Given the description of an element on the screen output the (x, y) to click on. 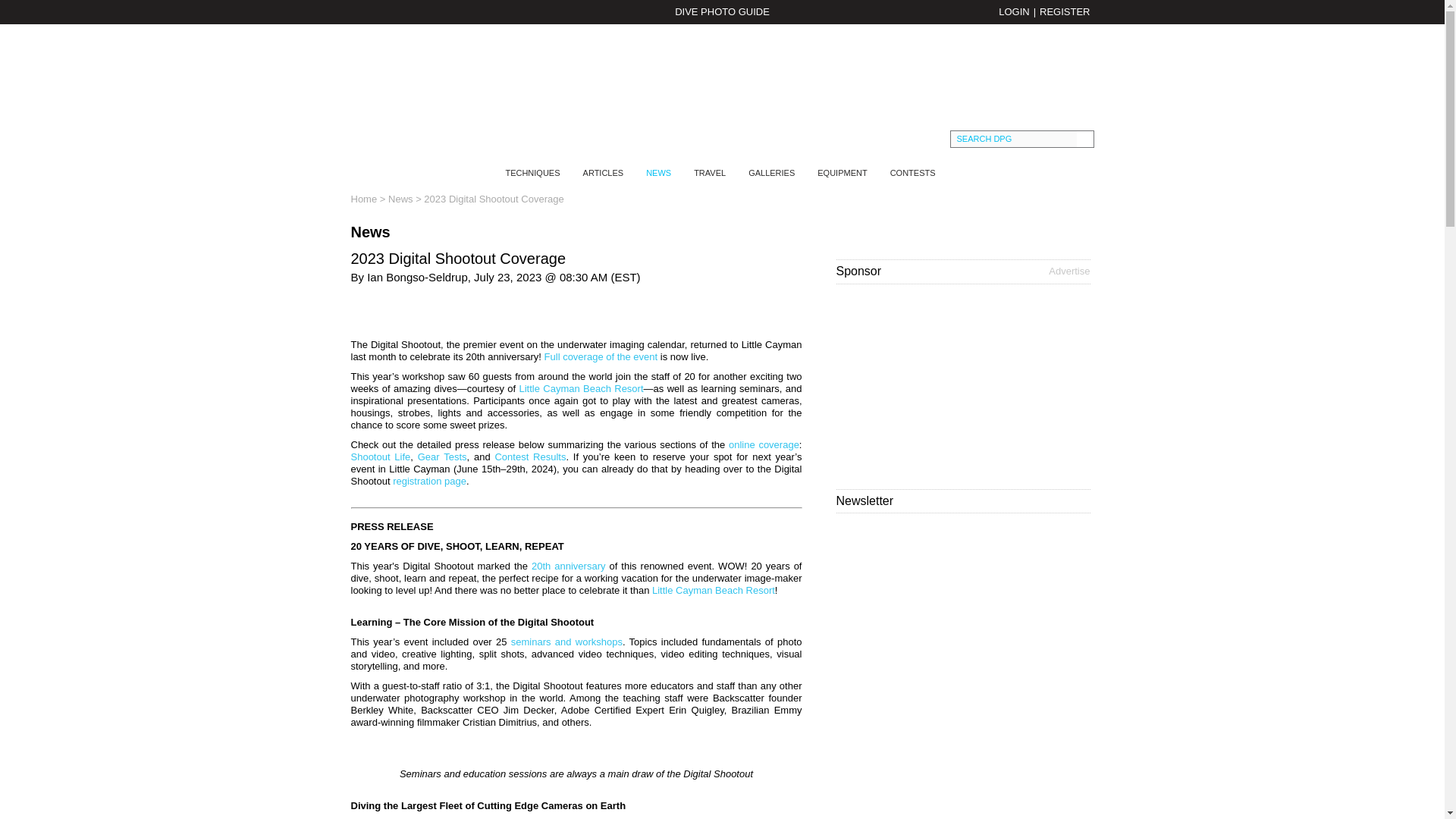
LOGIN (1013, 11)
registration page (429, 480)
CONTESTS (912, 172)
NEWS (658, 172)
News (400, 198)
ARTICLES (603, 172)
SEARCH DPG (1013, 139)
Little Cayman Beach Resort (580, 388)
DIVE PHOTO GUIDE (721, 12)
Little Cayman Beach Resort (713, 590)
